Given the description of an element on the screen output the (x, y) to click on. 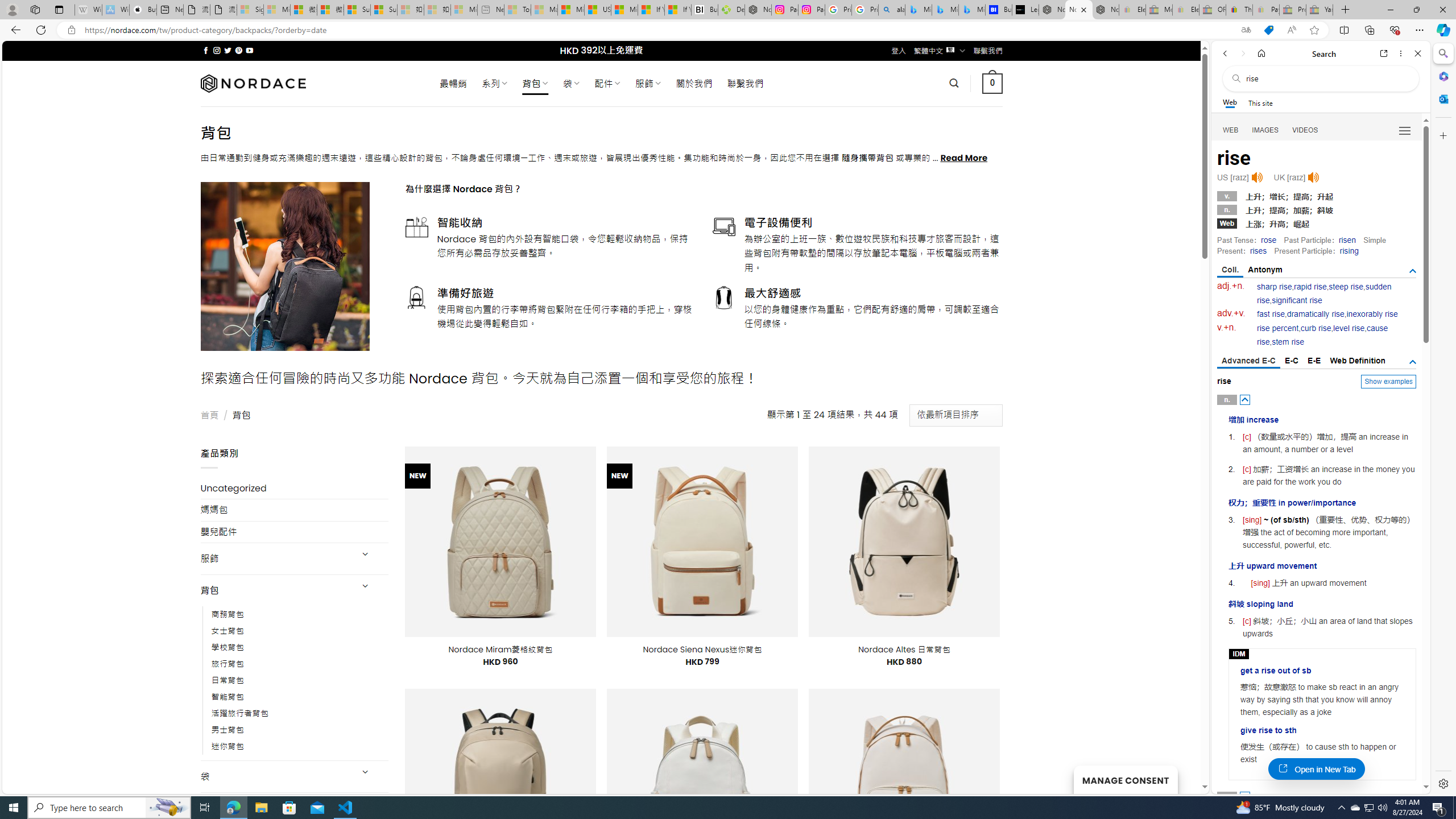
Buy iPad - Apple (143, 9)
  0   (992, 83)
Web scope (1230, 102)
Search Filter, VIDEOS (1304, 129)
Payments Terms of Use | eBay.com - Sleeping (1265, 9)
Marine life - MSN - Sleeping (543, 9)
Microsoft Bing Travel - Shangri-La Hotel Bangkok (971, 9)
